Given the description of an element on the screen output the (x, y) to click on. 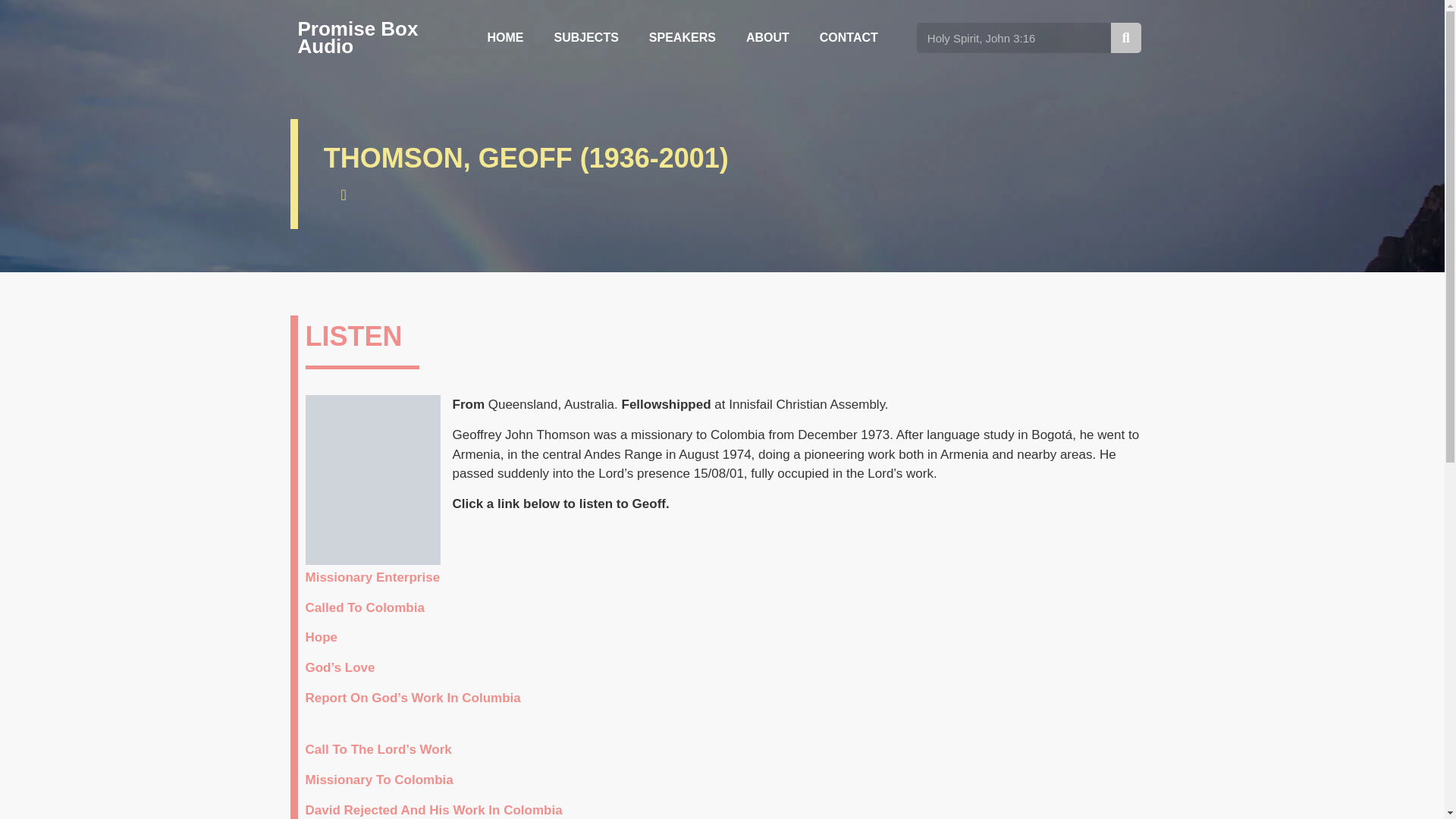
ABOUT (767, 37)
SUBJECTS (585, 37)
Promise Box Audio (357, 37)
CONTACT (849, 37)
Called To Colombia (363, 607)
Hope (320, 636)
Missionary To Colombia (378, 780)
HOME (504, 37)
David Rejected And His Work In Colombia (433, 810)
SPEAKERS (681, 37)
